Given the description of an element on the screen output the (x, y) to click on. 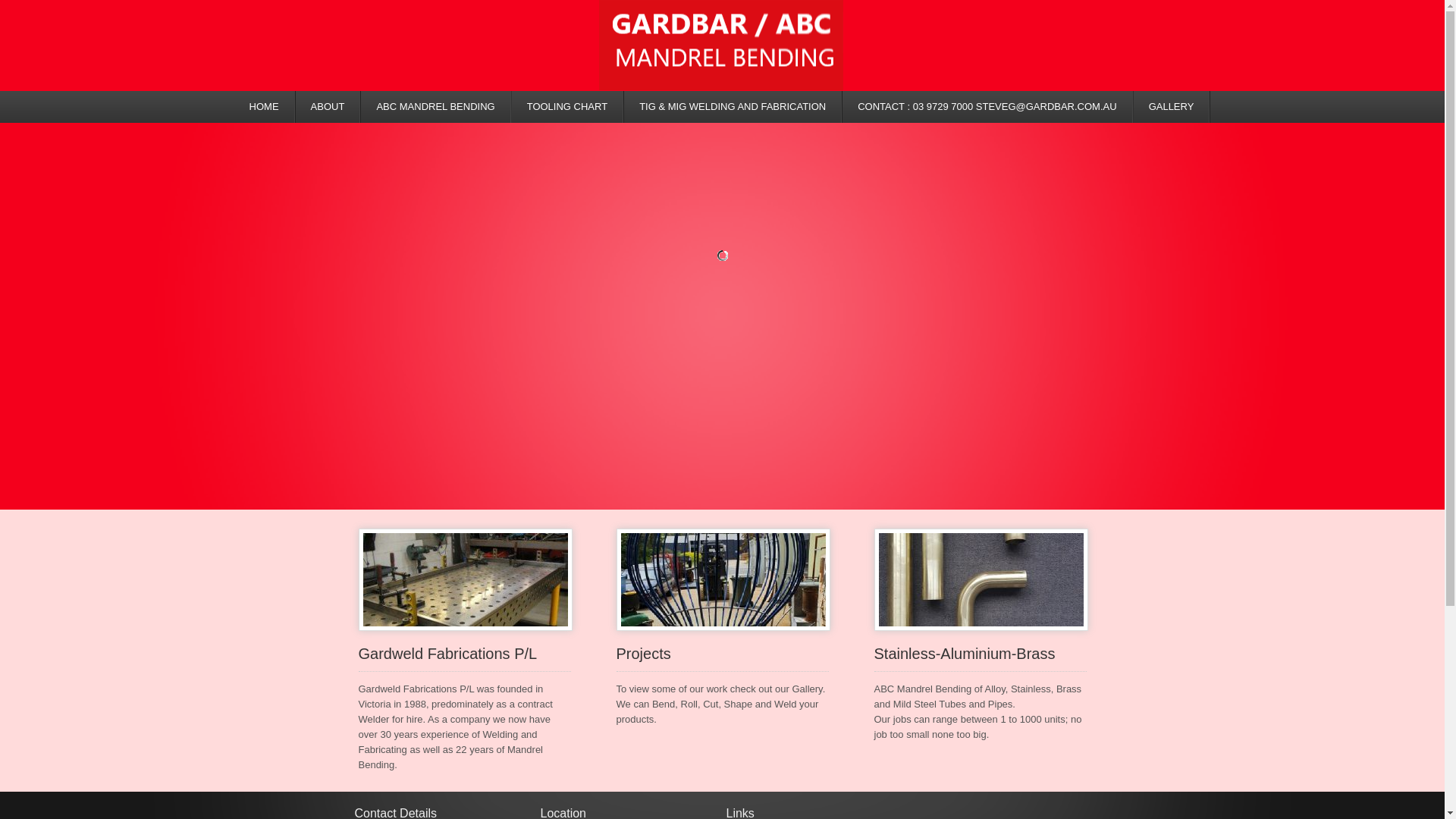
TOOLING CHART Element type: text (567, 106)
ABC MANDREL BENDING Element type: text (435, 106)
HOME Element type: text (264, 106)
TIG & MIG WELDING AND FABRICATION Element type: text (733, 106)
GALLERY Element type: text (1172, 106)
ABOUT Element type: text (328, 106)
CONTACT : 03 9729 7000 STEVEG@GARDBAR.COM.AU Element type: text (987, 106)
